Given the description of an element on the screen output the (x, y) to click on. 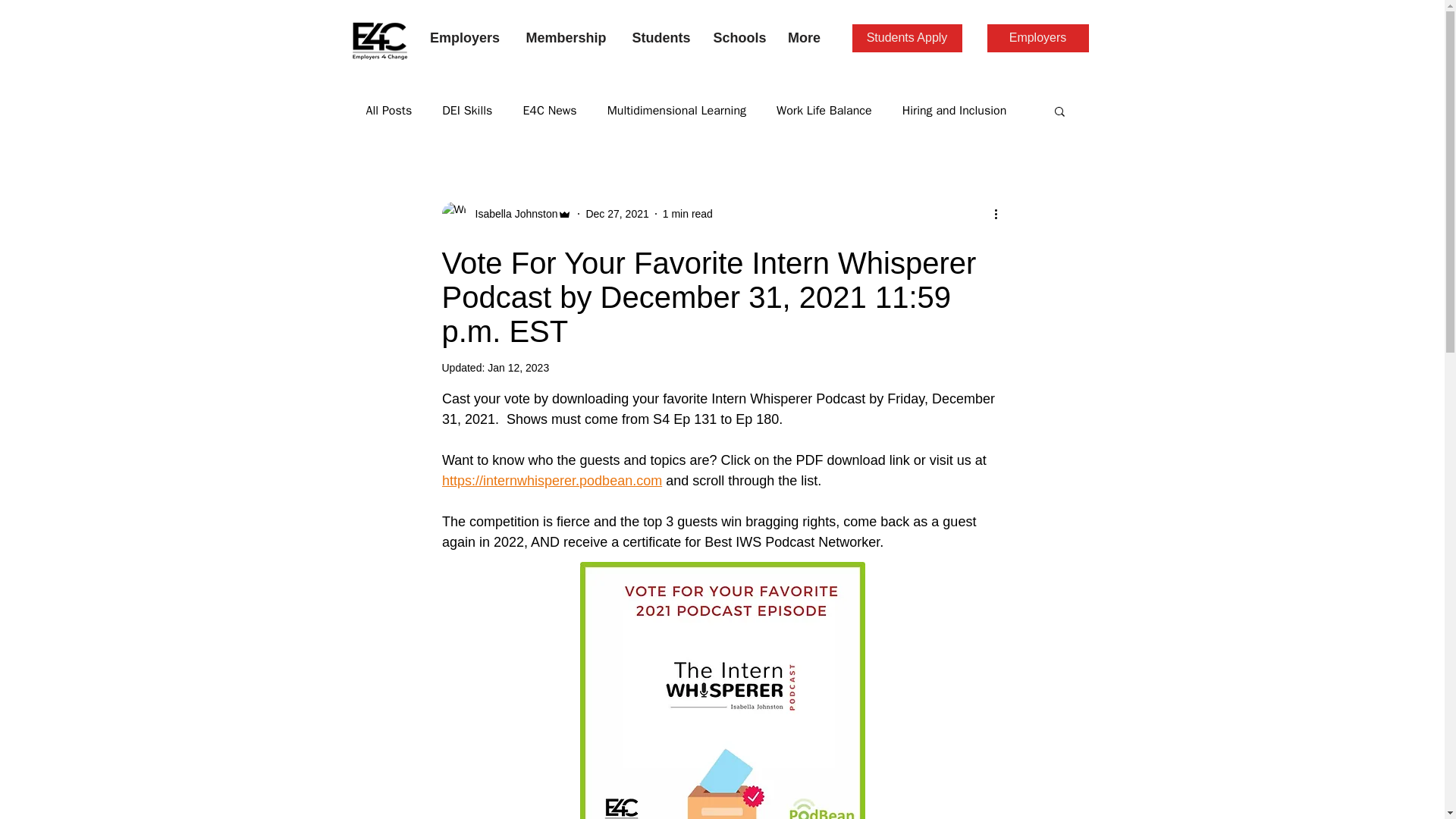
DEI Skills (467, 110)
E4C News (549, 110)
Work Life Balance (824, 110)
1 min read (687, 214)
Schools (738, 37)
Membership (566, 37)
Jan 12, 2023 (517, 367)
Hiring and Inclusion (954, 110)
Isabella Johnston (511, 213)
Employers (1038, 38)
